Given the description of an element on the screen output the (x, y) to click on. 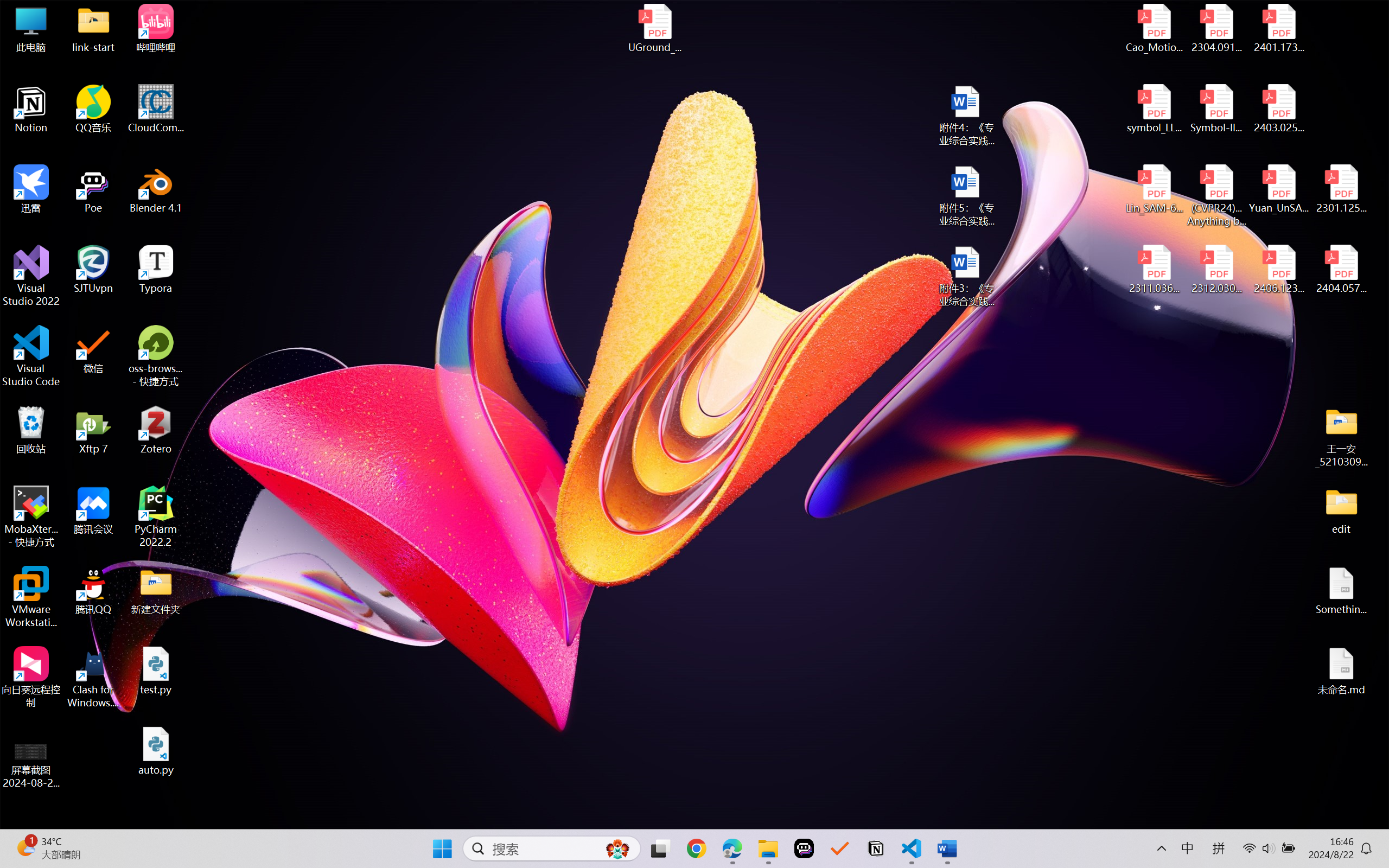
2406.12373v2.pdf (1278, 269)
(CVPR24)Matching Anything by Segmenting Anything.pdf (1216, 195)
Blender 4.1 (156, 189)
PyCharm 2022.2 (156, 516)
